Given the description of an element on the screen output the (x, y) to click on. 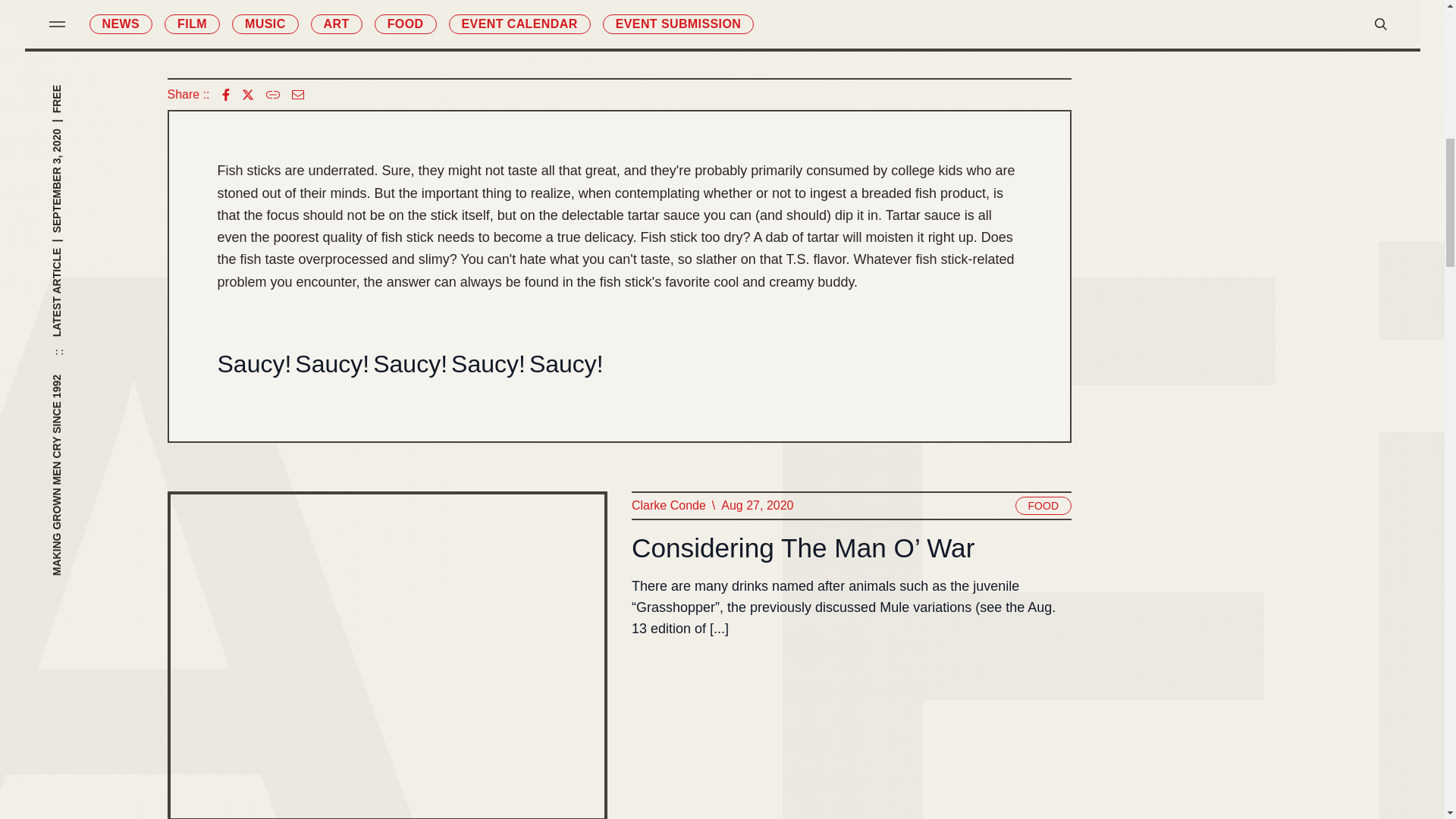
FOOD (1042, 505)
Clarke Conde (667, 505)
Advertisement (618, 27)
